Given the description of an element on the screen output the (x, y) to click on. 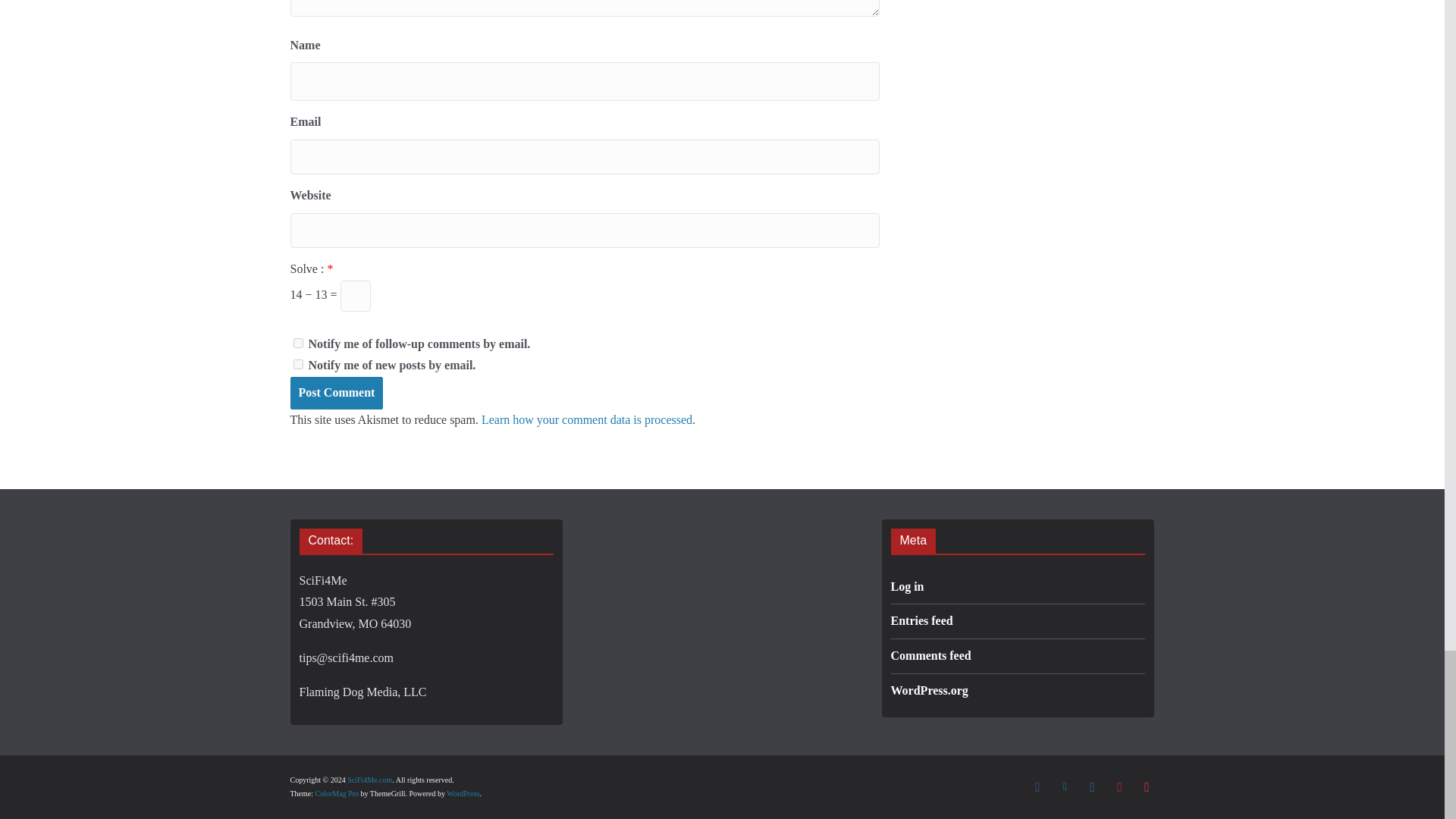
subscribe (297, 364)
subscribe (297, 343)
Post Comment (335, 392)
